Given the description of an element on the screen output the (x, y) to click on. 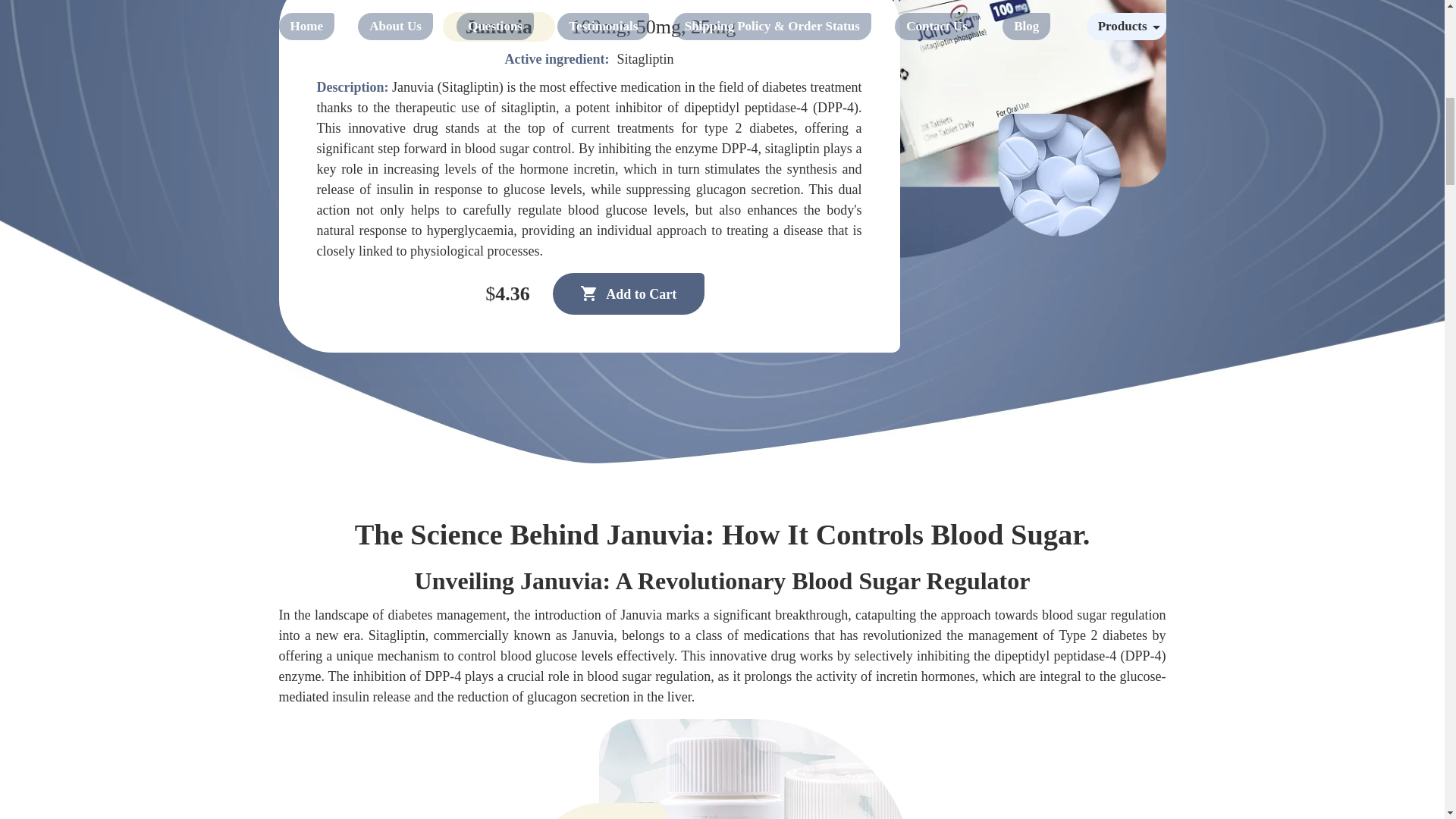
Add to Cart (628, 293)
